Given the description of an element on the screen output the (x, y) to click on. 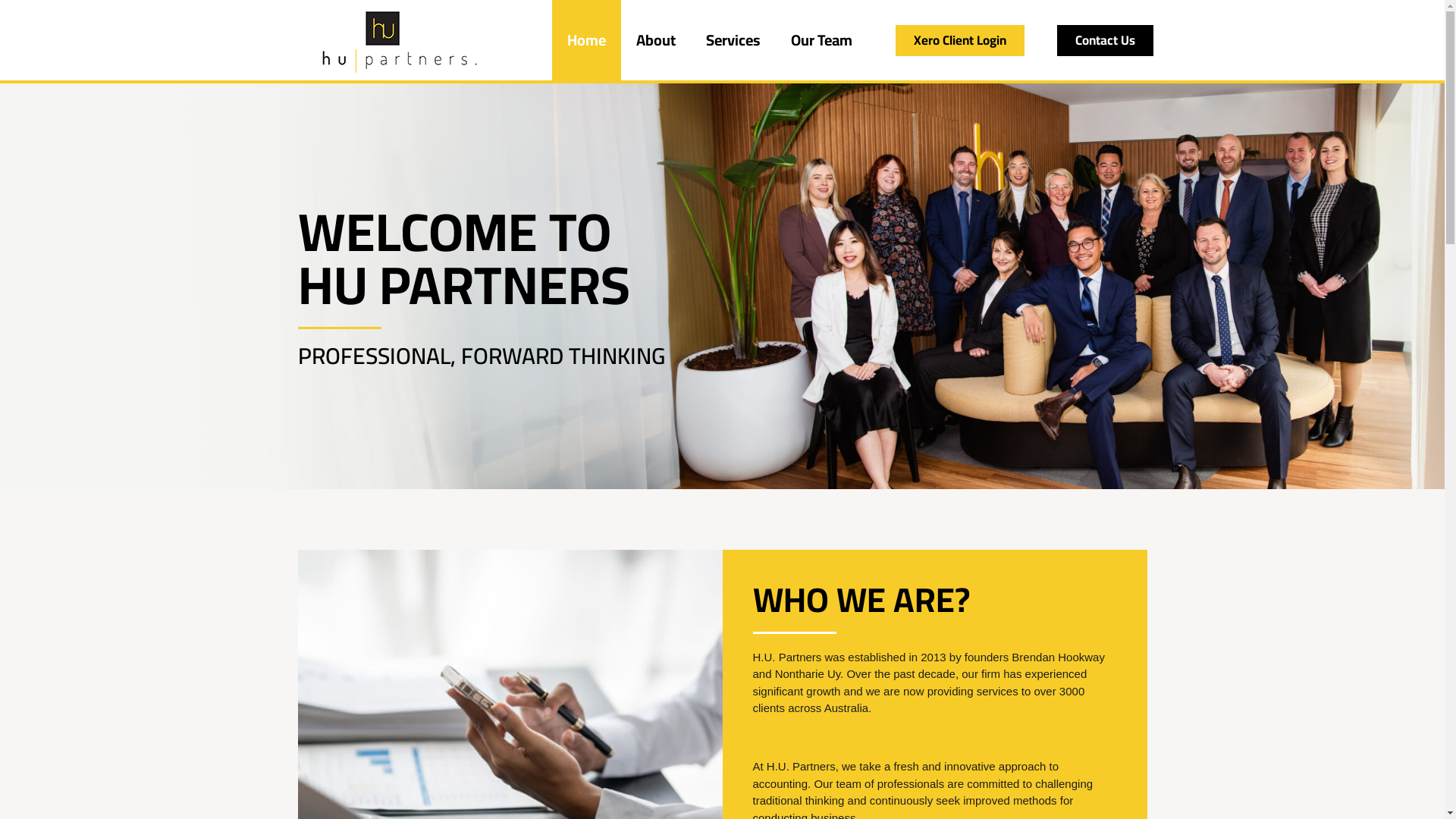
Contact Us Element type: text (1105, 39)
Home Element type: text (586, 40)
Services Element type: text (732, 40)
Xero Client Login Element type: text (959, 39)
About Element type: text (655, 40)
Our Team Element type: text (821, 40)
